Given the description of an element on the screen output the (x, y) to click on. 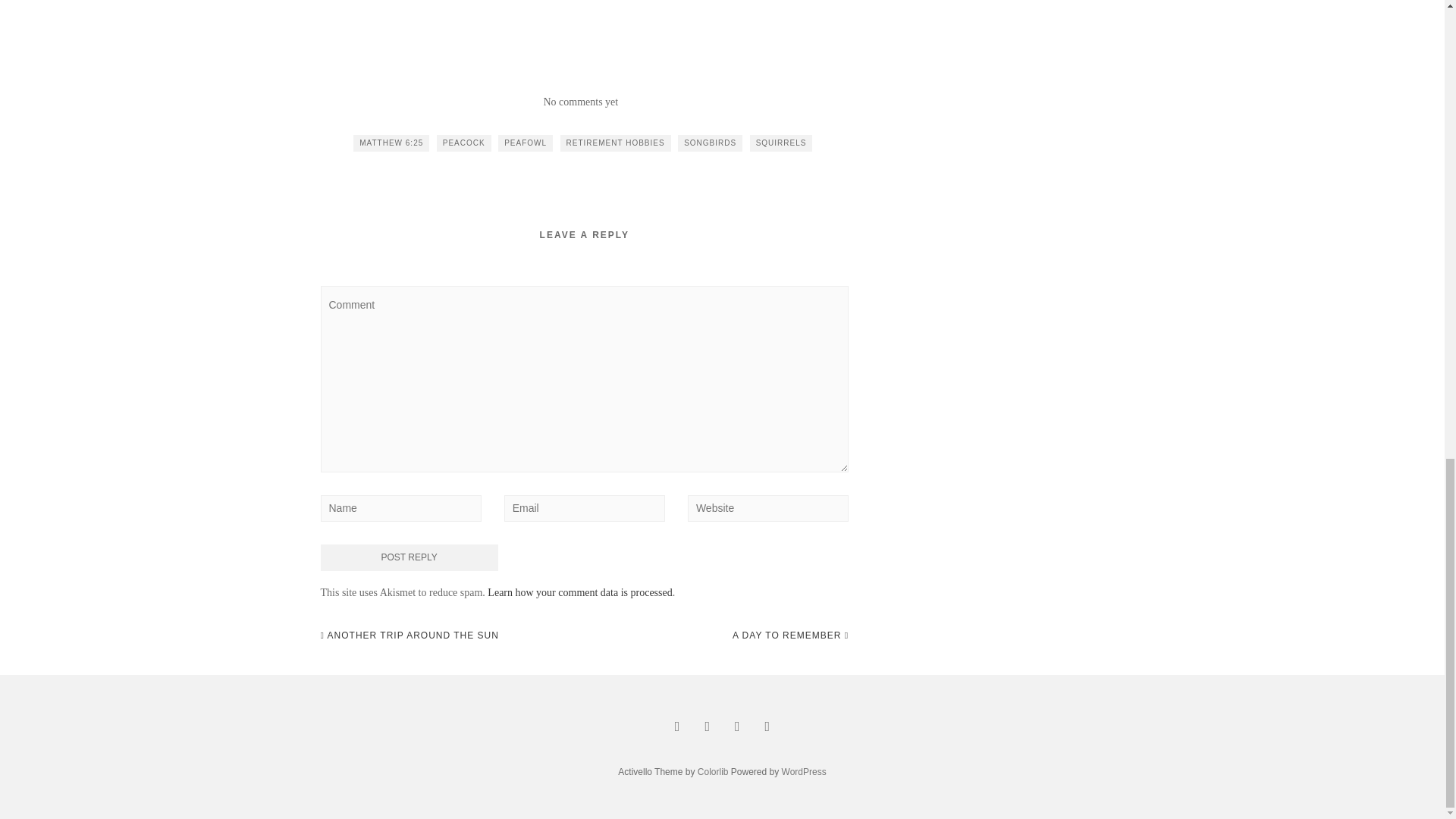
MATTHEW 6:25 (391, 143)
RETIREMENT HOBBIES (615, 143)
ANOTHER TRIP AROUND THE SUN (408, 635)
No comments yet (580, 101)
PEAFOWL (525, 143)
SONGBIRDS (710, 143)
Post Reply (408, 557)
Learn how your comment data is processed (579, 592)
Post Reply (408, 557)
PEACOCK (464, 143)
SQUIRRELS (780, 143)
A DAY TO REMEMBER (790, 635)
